Given the description of an element on the screen output the (x, y) to click on. 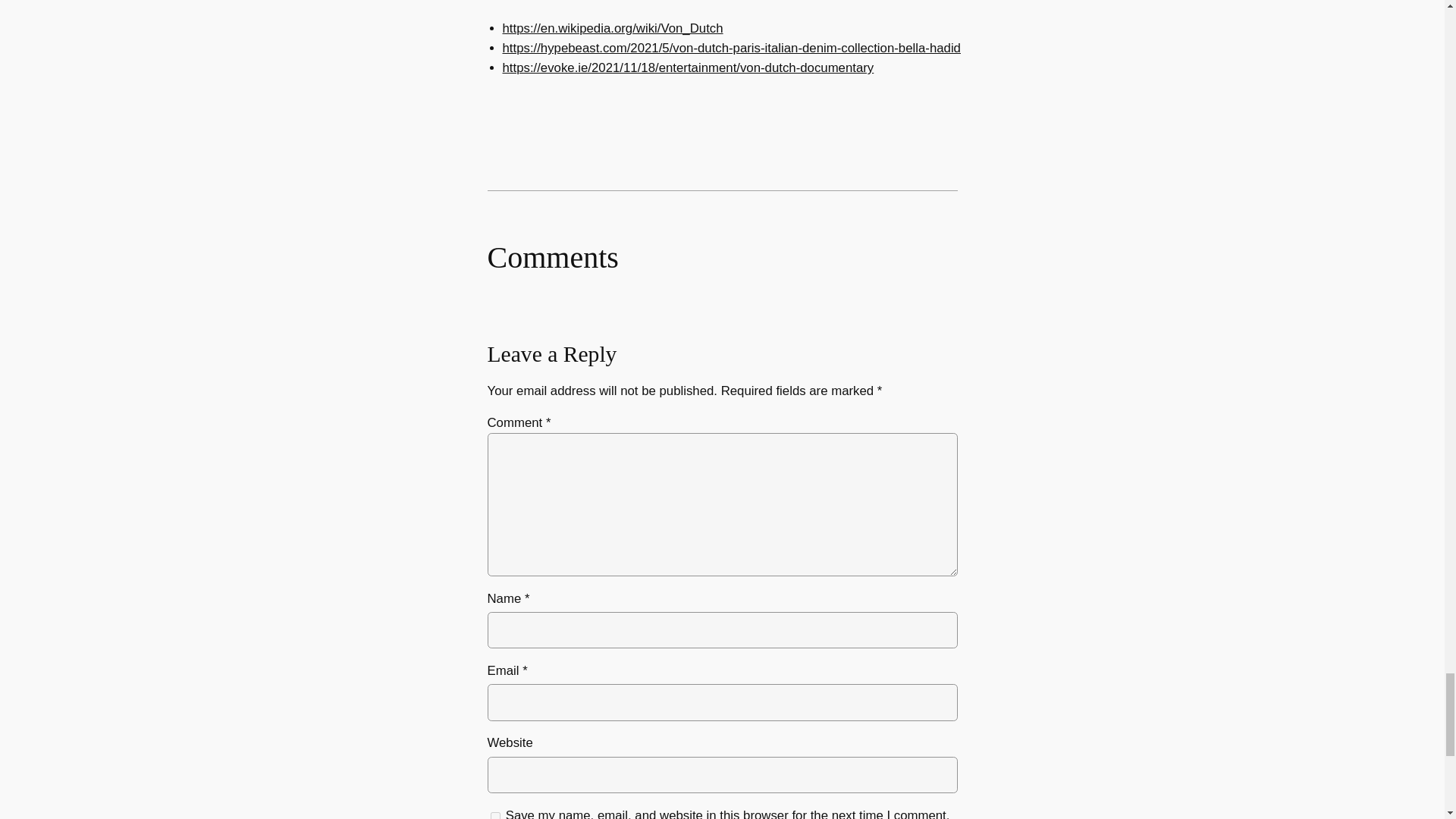
yes (494, 814)
